Given the description of an element on the screen output the (x, y) to click on. 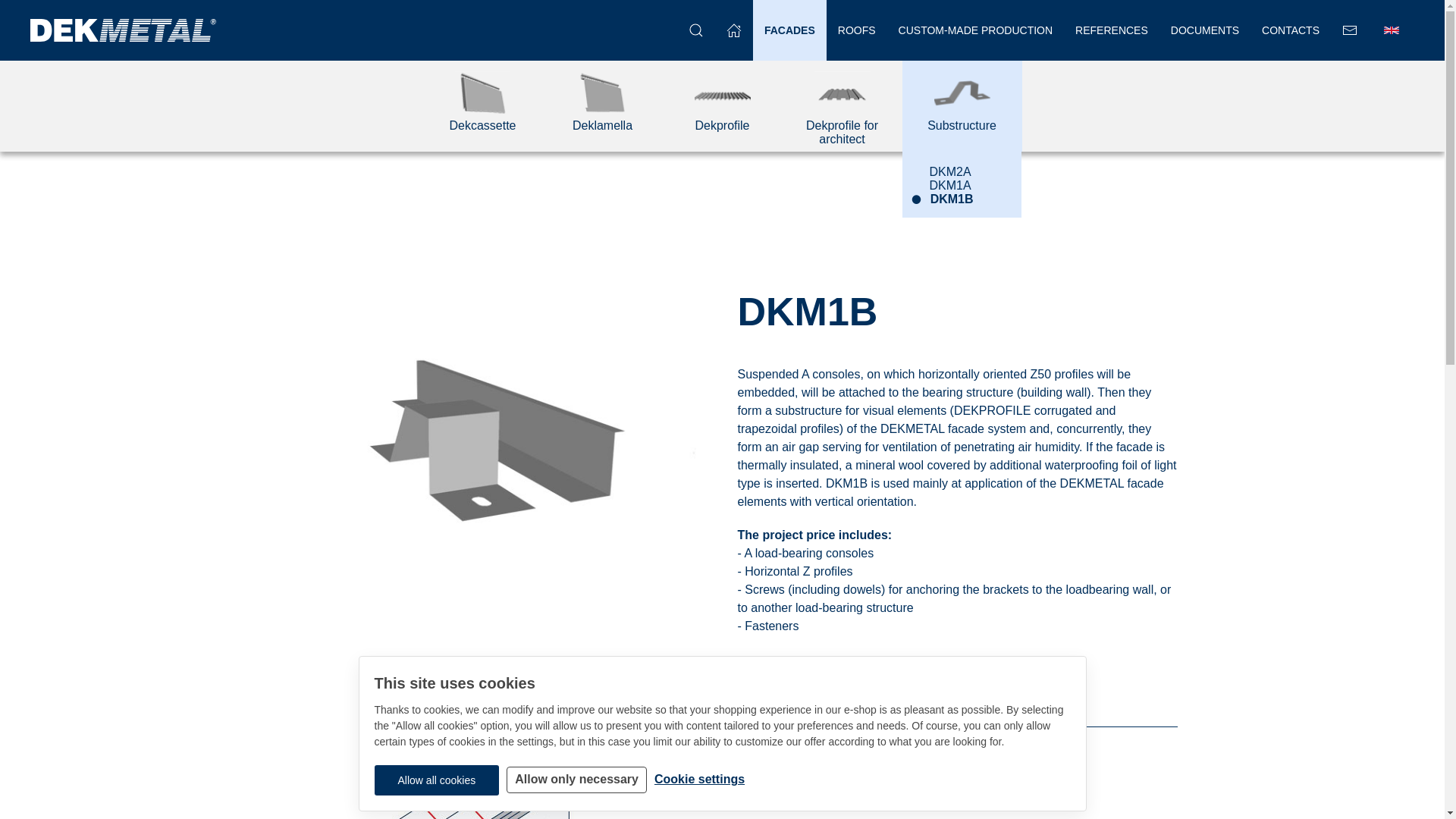
Allow only necessary (576, 779)
CONTACTS (1290, 30)
CUSTOM-MADE PRODUCTION (975, 30)
DOCUMENTS (1204, 30)
REFERENCES (1111, 30)
Cookie settings (698, 779)
Allow all cookies (436, 779)
